Given the description of an element on the screen output the (x, y) to click on. 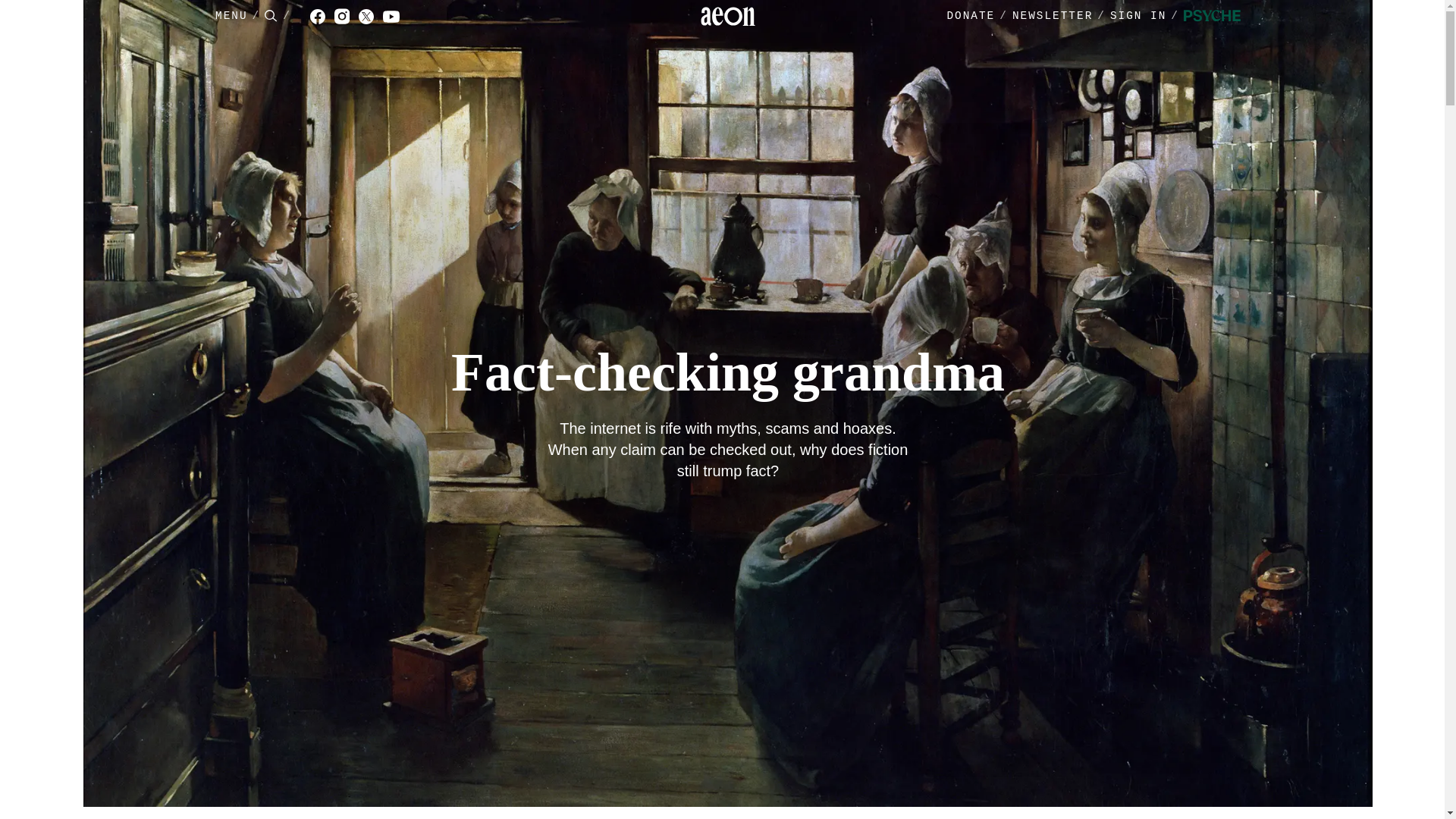
DONATE (970, 15)
Sign in (1146, 16)
Psyche (1211, 17)
